Given the description of an element on the screen output the (x, y) to click on. 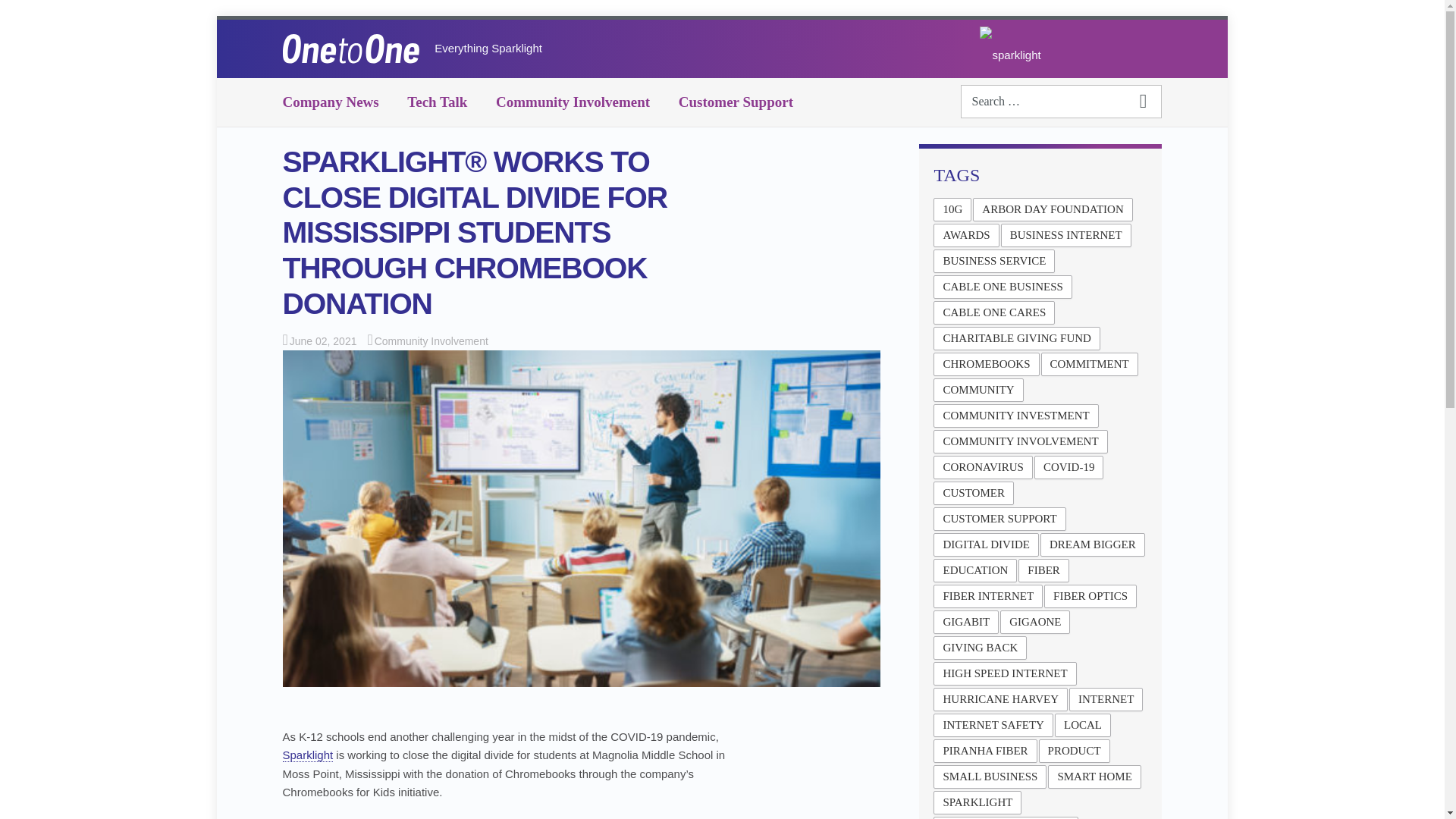
DREAM BIGGER (1092, 544)
BUSINESS INTERNET (1066, 235)
AWARDS (965, 235)
COMMUNITY (978, 390)
COMMUNITY INVESTMENT (1015, 415)
CUSTOMER (973, 493)
CHARITABLE GIVING FUND (1016, 338)
Sparklight (307, 755)
ARBOR DAY FOUNDATION (1052, 209)
CHROMEBOOKS (986, 363)
CORONAVIRUS (982, 467)
Community Involvement (430, 340)
Customer Support (735, 102)
CABLE ONE CARES (993, 312)
